Given the description of an element on the screen output the (x, y) to click on. 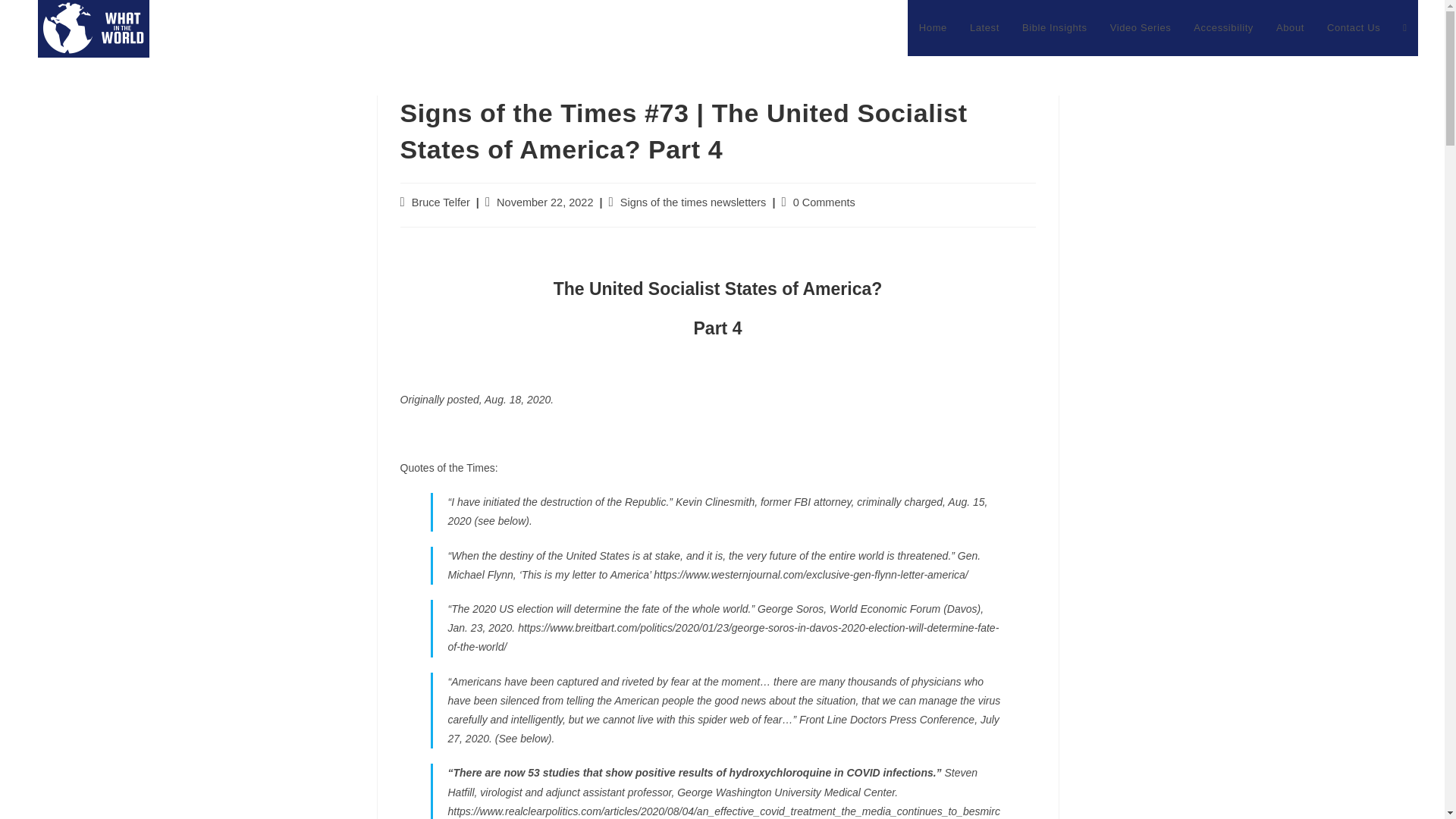
Bible Insights (1054, 28)
About (1290, 28)
Accessibility (1223, 28)
Video Series (1140, 28)
Home (932, 28)
Contact Us (1353, 28)
Latest (984, 28)
Posts by Bruce Telfer (441, 202)
